Given the description of an element on the screen output the (x, y) to click on. 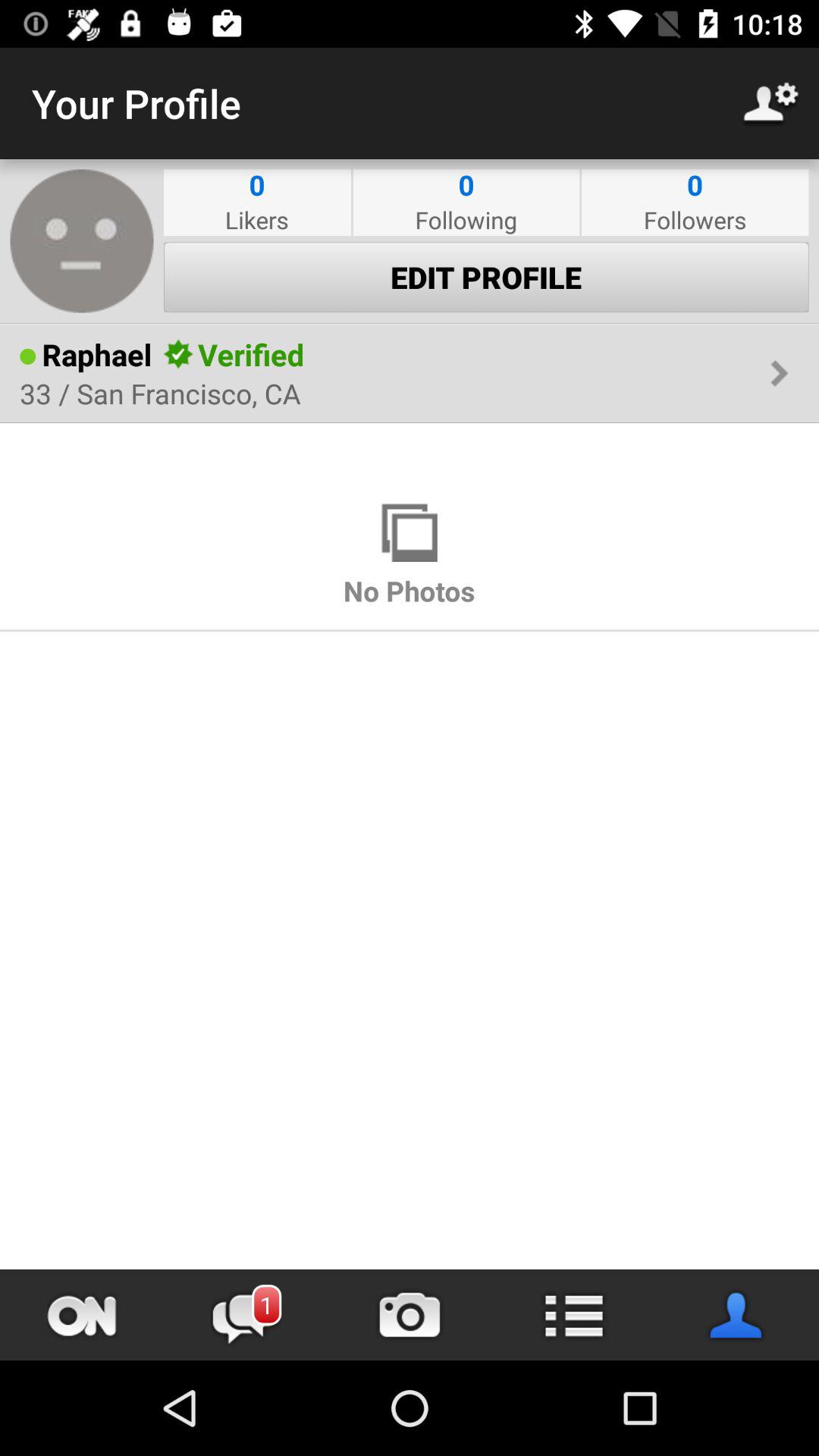
turn profile on (81, 1315)
